Given the description of an element on the screen output the (x, y) to click on. 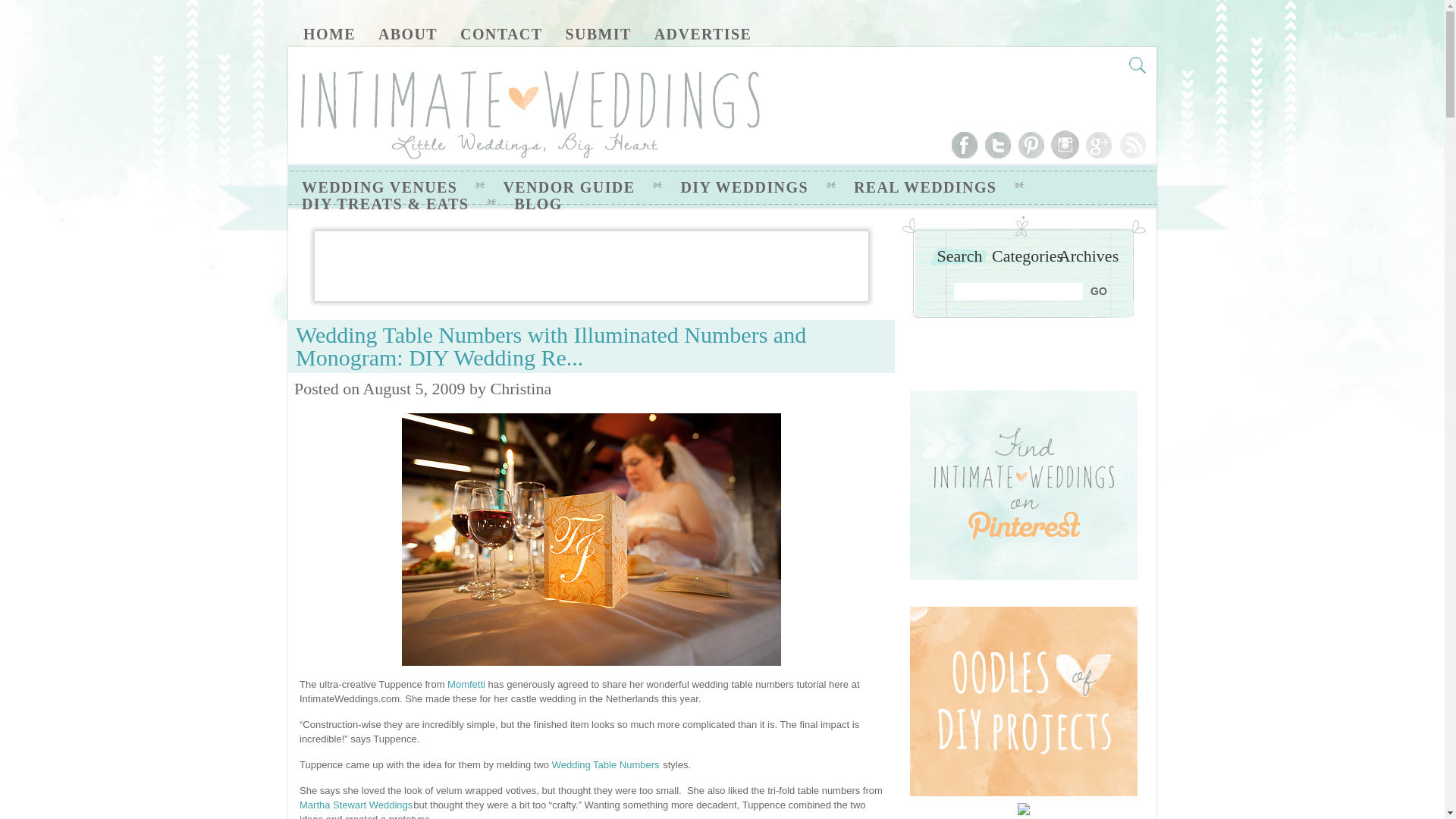
GO (1099, 290)
WEDDING VENUES (379, 187)
DIY WEDDINGS (743, 187)
REAL WEDDINGS (924, 187)
ADVERTISE (702, 33)
wedding table numbers diy reception (590, 539)
ABOUT (408, 33)
GO (1099, 290)
CONTACT (500, 33)
SUBMIT (597, 33)
